Given the description of an element on the screen output the (x, y) to click on. 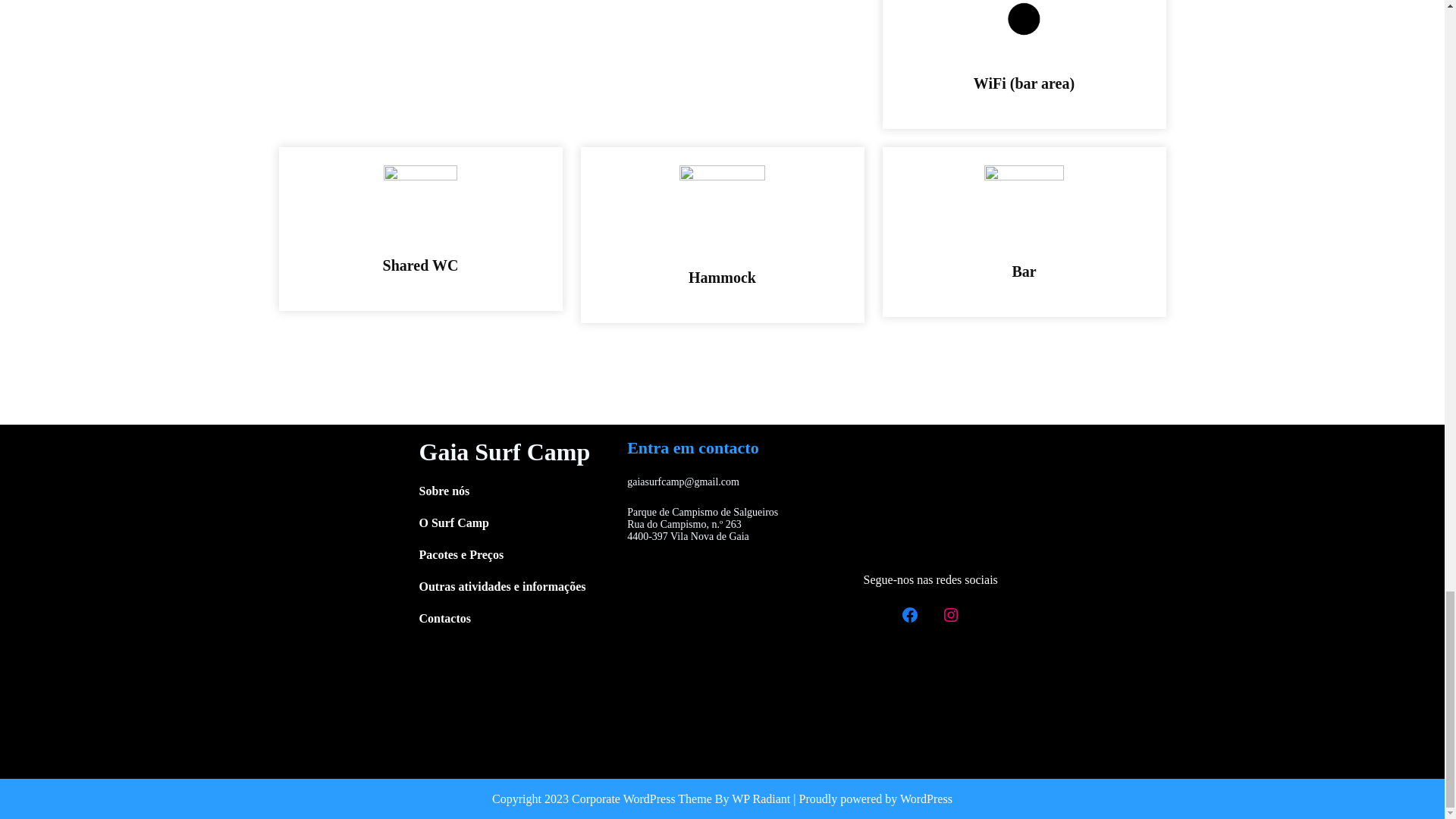
Corporate WordPress Theme (641, 798)
Instagram (950, 614)
WP Radiant (761, 798)
WordPress (925, 798)
Gaia Surf Camp (504, 452)
Contactos (444, 618)
Facebook (909, 614)
O Surf Camp (453, 522)
